Given the description of an element on the screen output the (x, y) to click on. 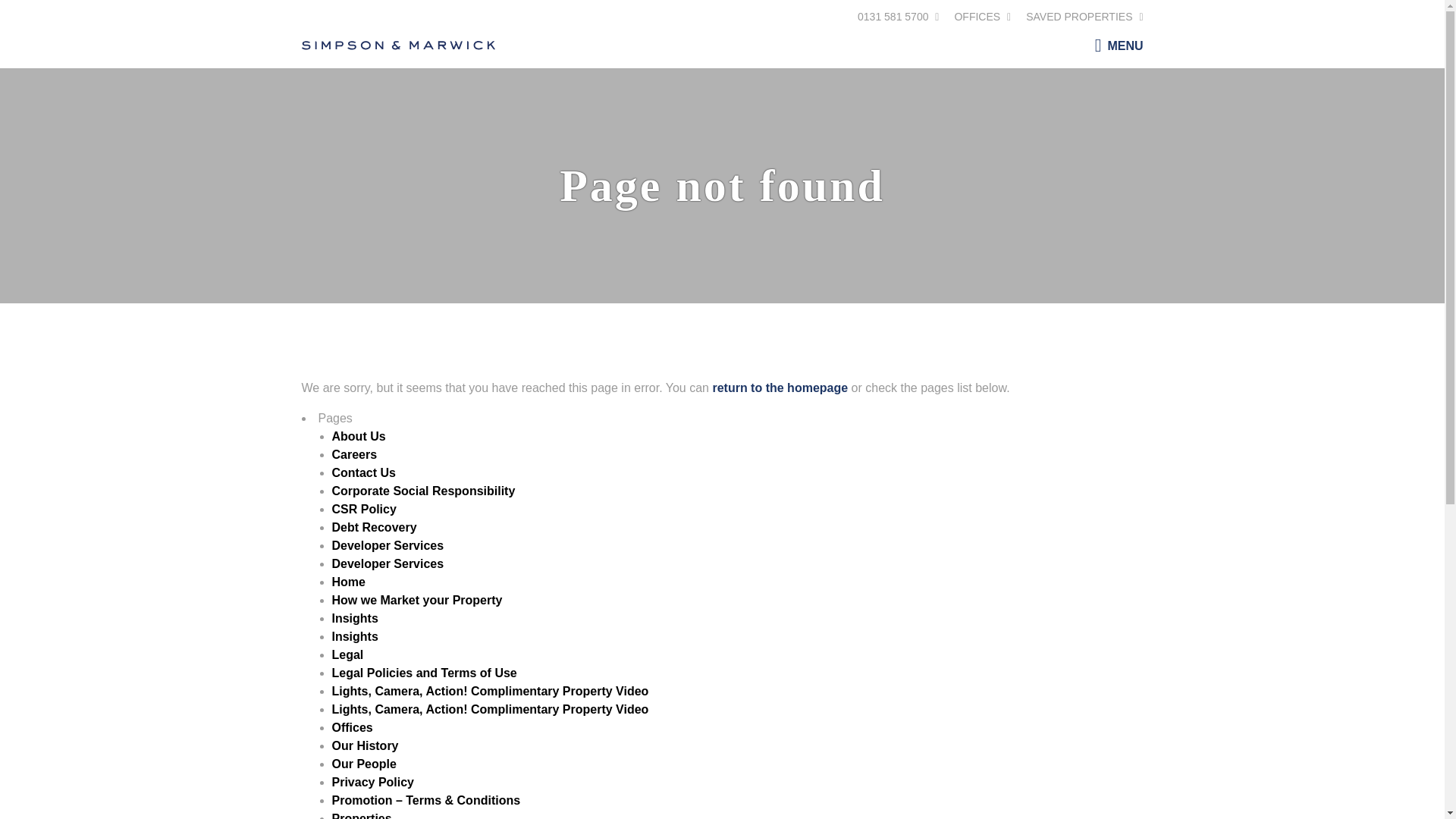
Corporate Social Responsibility (423, 490)
About Us (358, 436)
0131 581 5700 (898, 16)
SAVED PROPERTIES (1084, 16)
CSR Policy (363, 508)
OFFICES (981, 16)
return to the homepage (779, 387)
MENU (1114, 44)
Careers (354, 454)
Debt Recovery (373, 526)
